Given the description of an element on the screen output the (x, y) to click on. 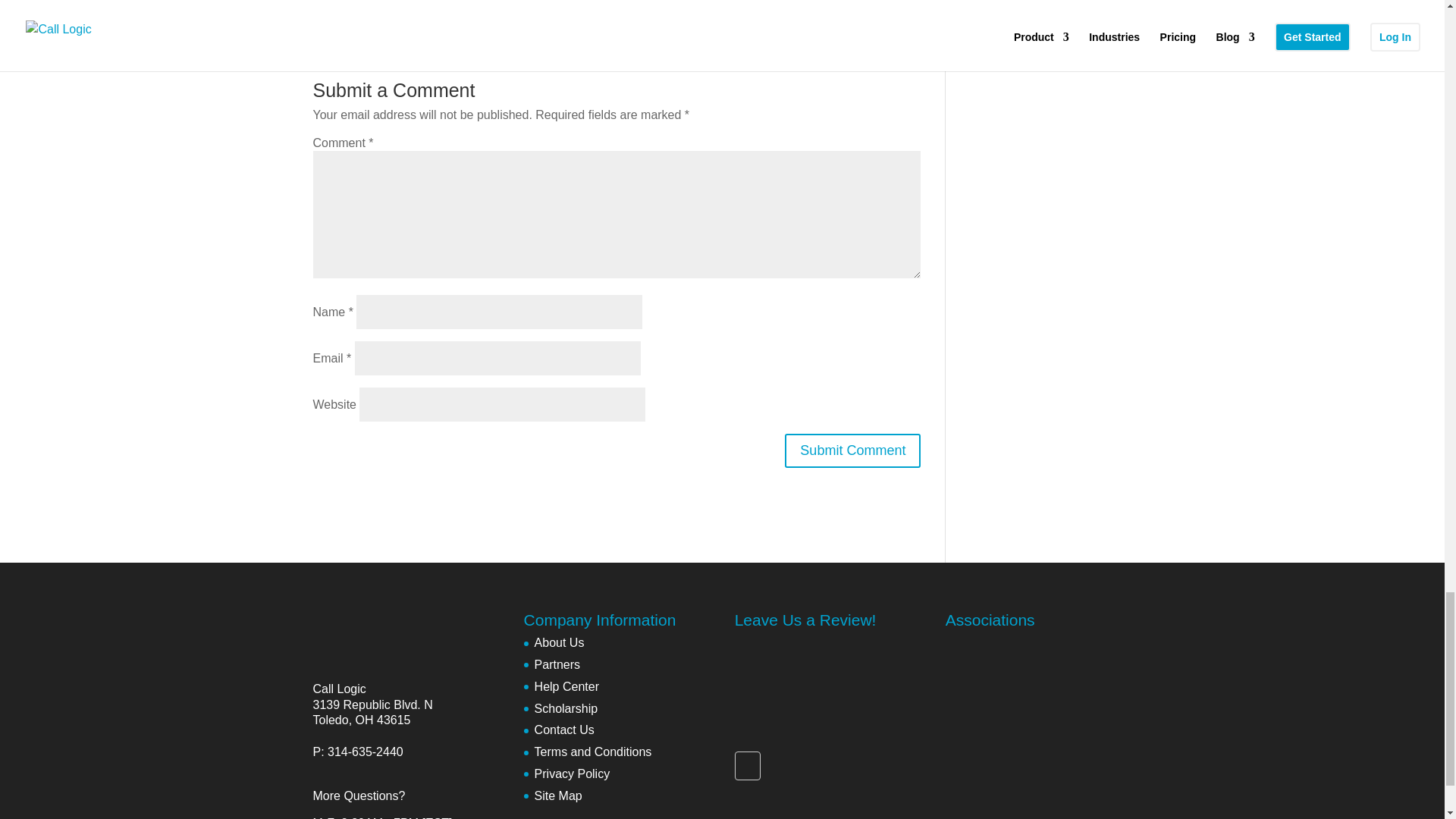
Submit Comment (852, 450)
Submit Comment (852, 450)
